Given the description of an element on the screen output the (x, y) to click on. 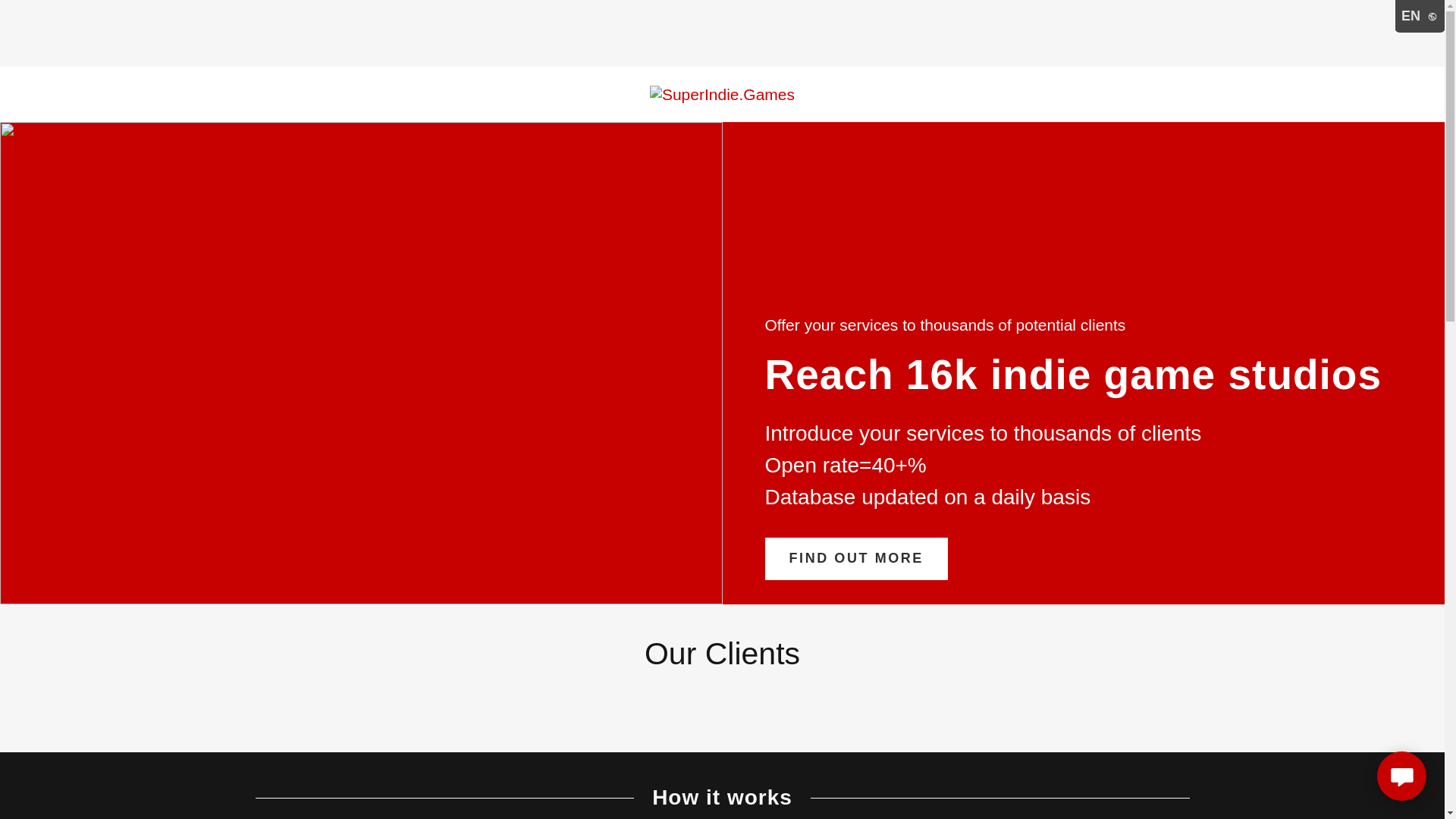
SuperIndie.Games (721, 93)
FIND OUT MORE (855, 558)
